Given the description of an element on the screen output the (x, y) to click on. 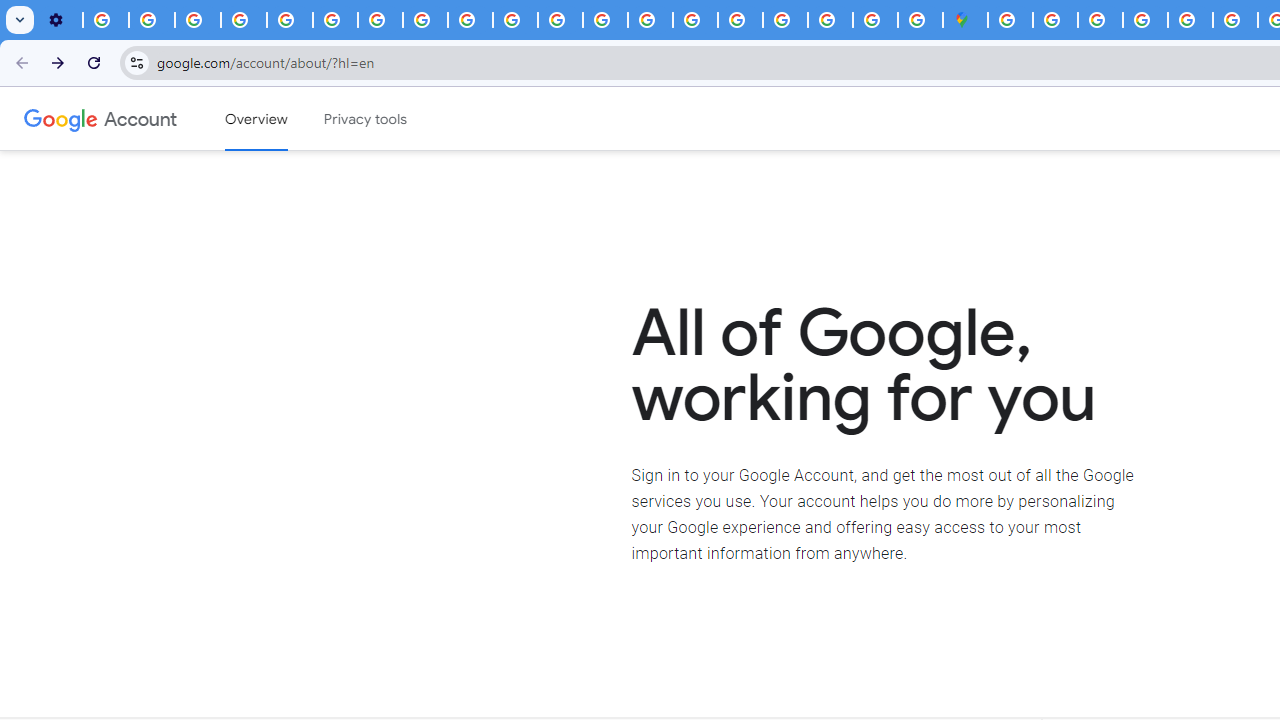
Privacy tools (365, 119)
Google Account overview (256, 119)
Privacy Checkup (470, 20)
YouTube (335, 20)
Sign in - Google Accounts (1010, 20)
Google logo (61, 118)
Sign in - Google Accounts (1055, 20)
Skip to Content (285, 115)
